Given the description of an element on the screen output the (x, y) to click on. 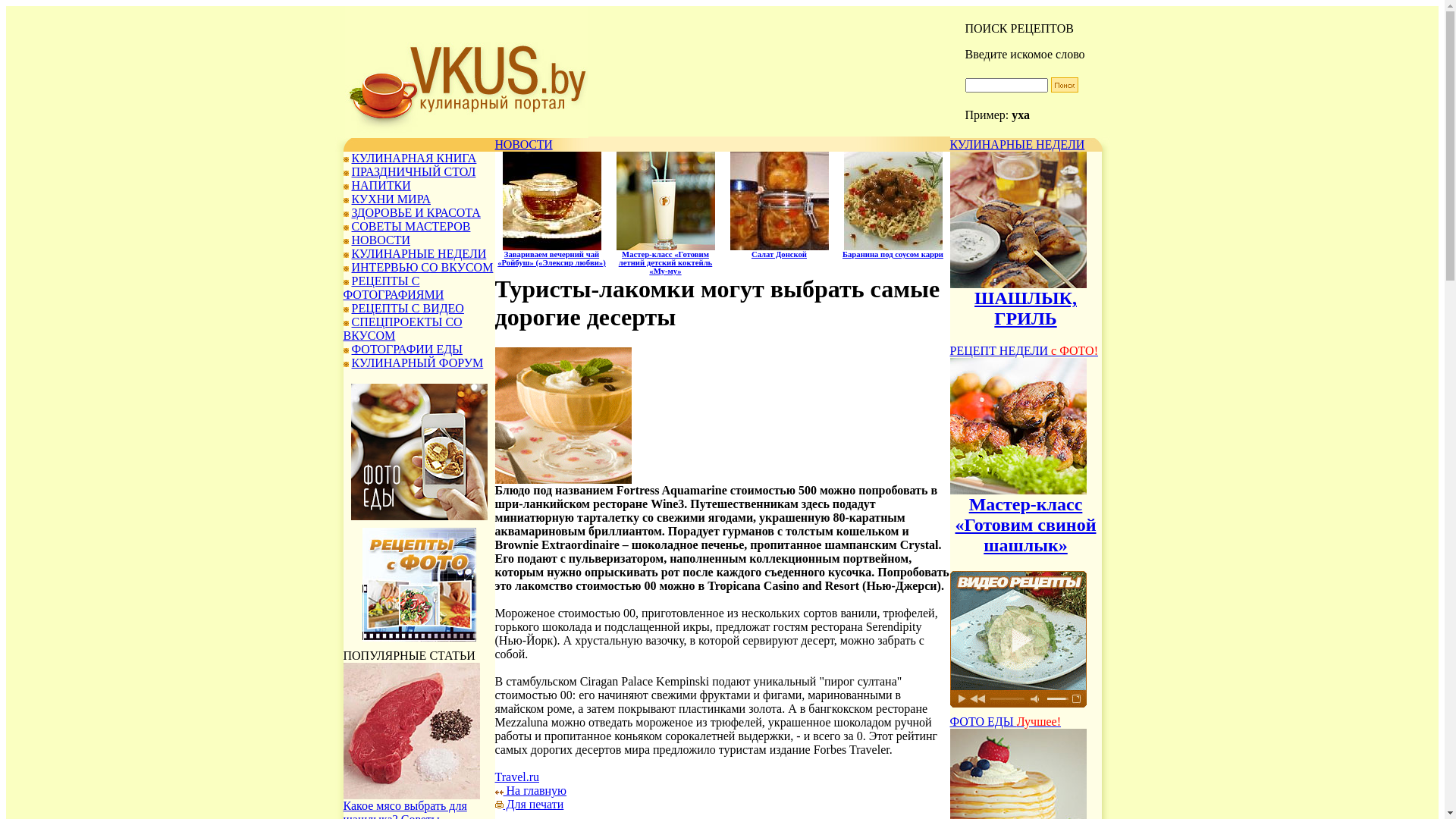
Travel.ru Element type: text (516, 776)
